Given the description of an element on the screen output the (x, y) to click on. 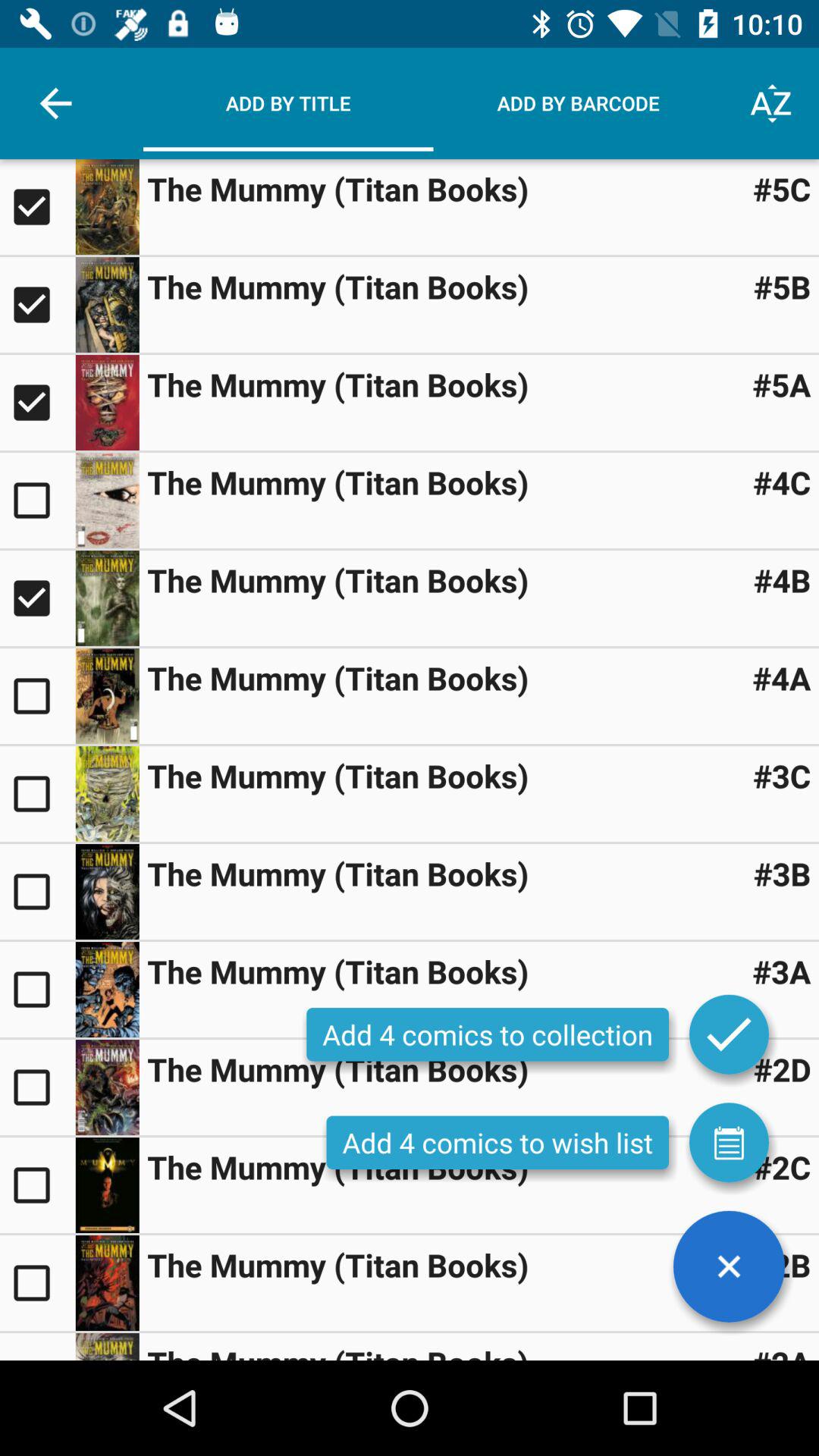
toggle a book that you read (37, 500)
